Given the description of an element on the screen output the (x, y) to click on. 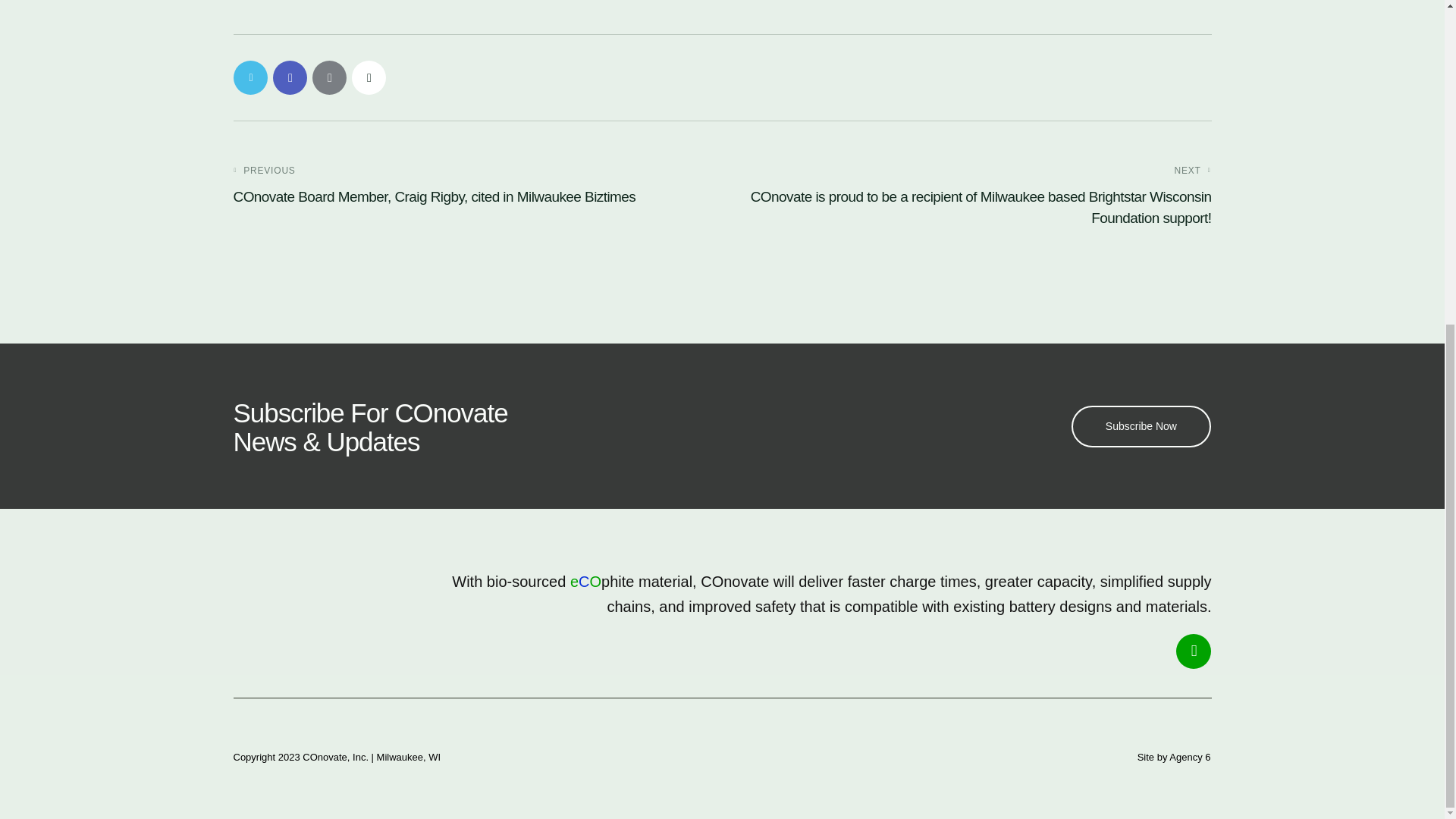
Copy URL to clipboard (368, 77)
